Given the description of an element on the screen output the (x, y) to click on. 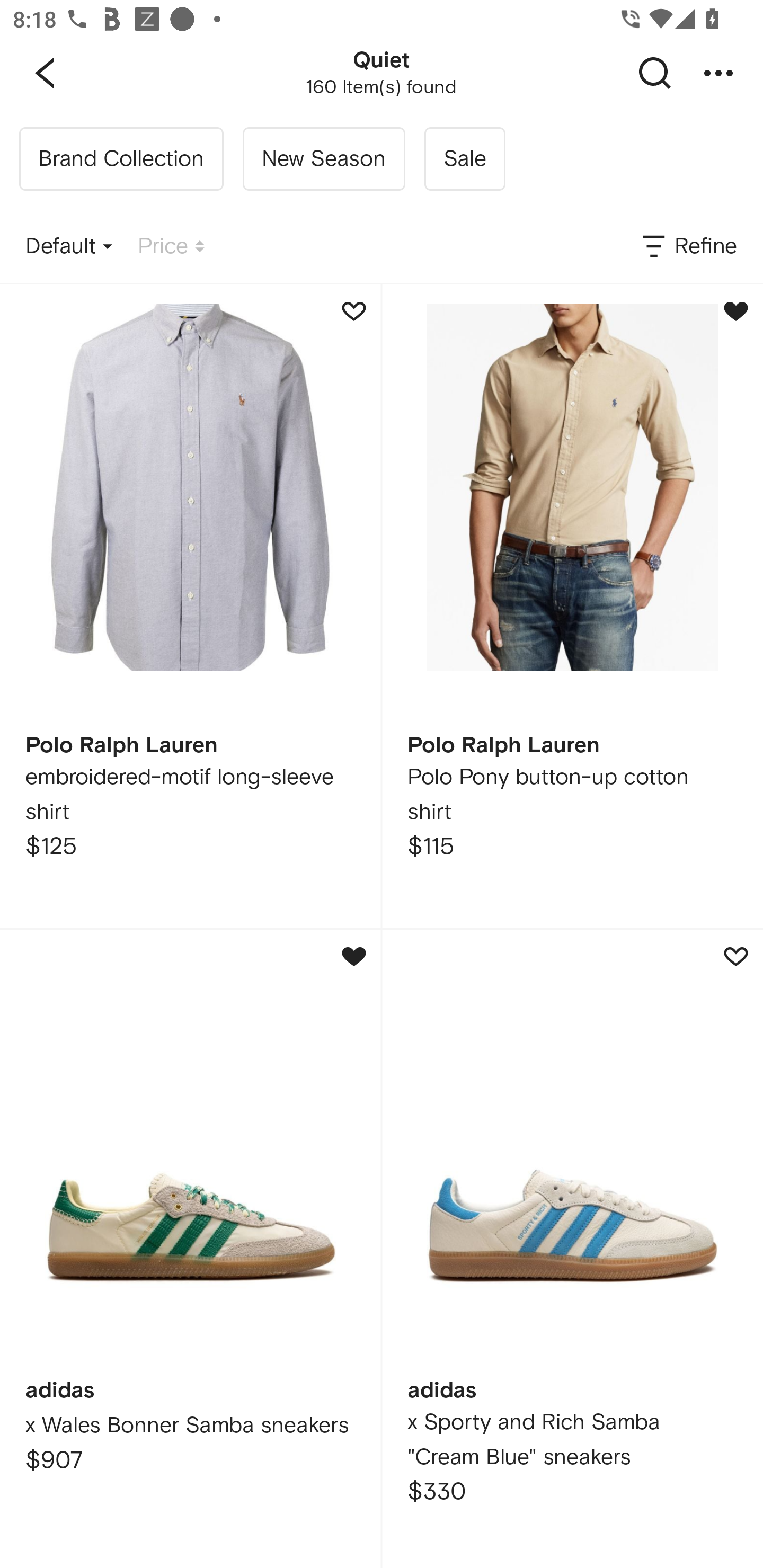
Brand Collection (121, 158)
New Season (323, 158)
Sale (464, 158)
Default (68, 246)
Price (171, 246)
Refine (688, 246)
adidas x Wales Bonner Samba sneakers $907 (190, 1248)
